Given the description of an element on the screen output the (x, y) to click on. 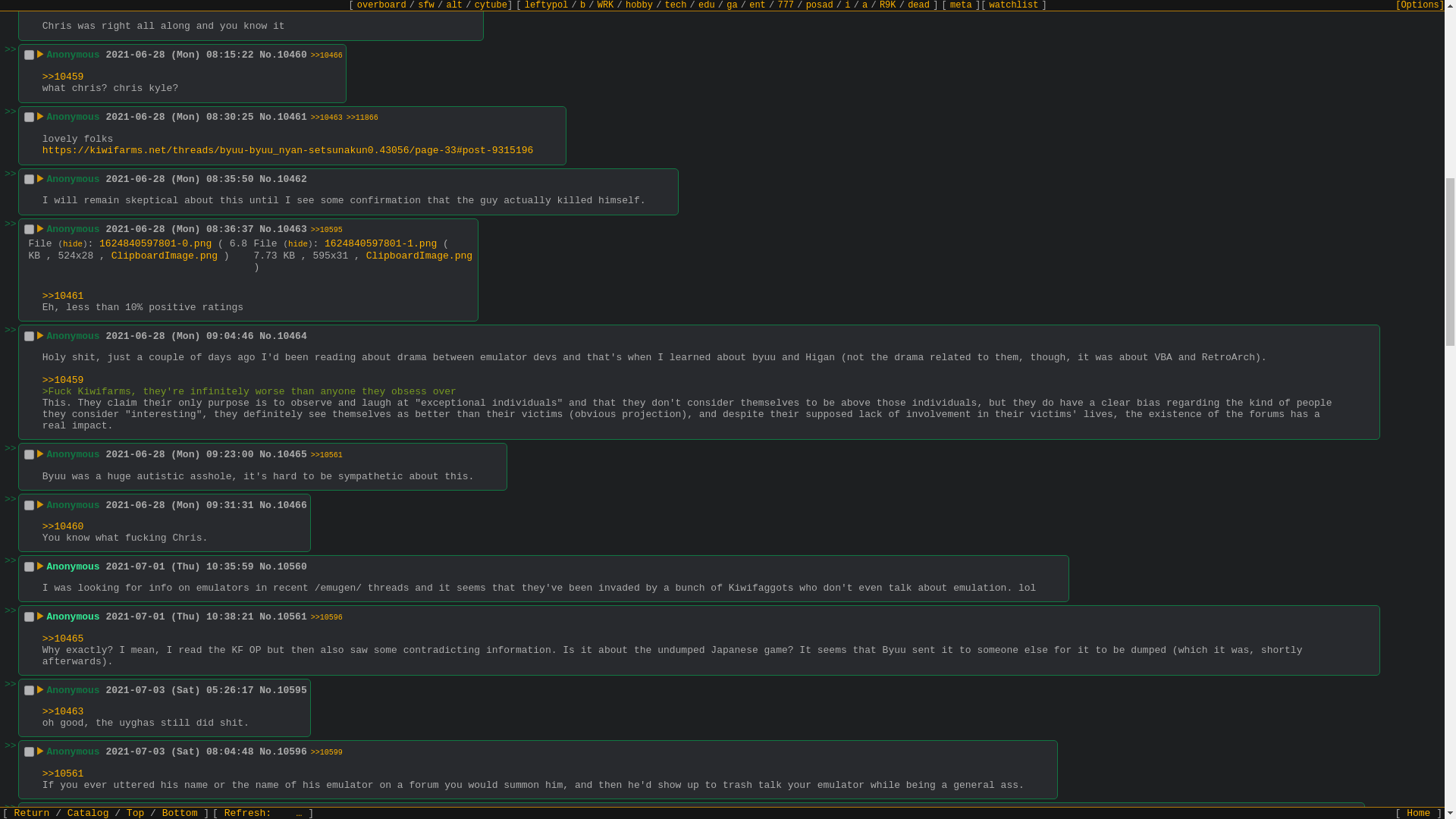
on (28, 336)
on (28, 566)
on (28, 616)
on (28, 229)
on (28, 505)
on (28, 179)
on (28, 690)
on (28, 54)
on (28, 117)
on (28, 454)
